Given the description of an element on the screen output the (x, y) to click on. 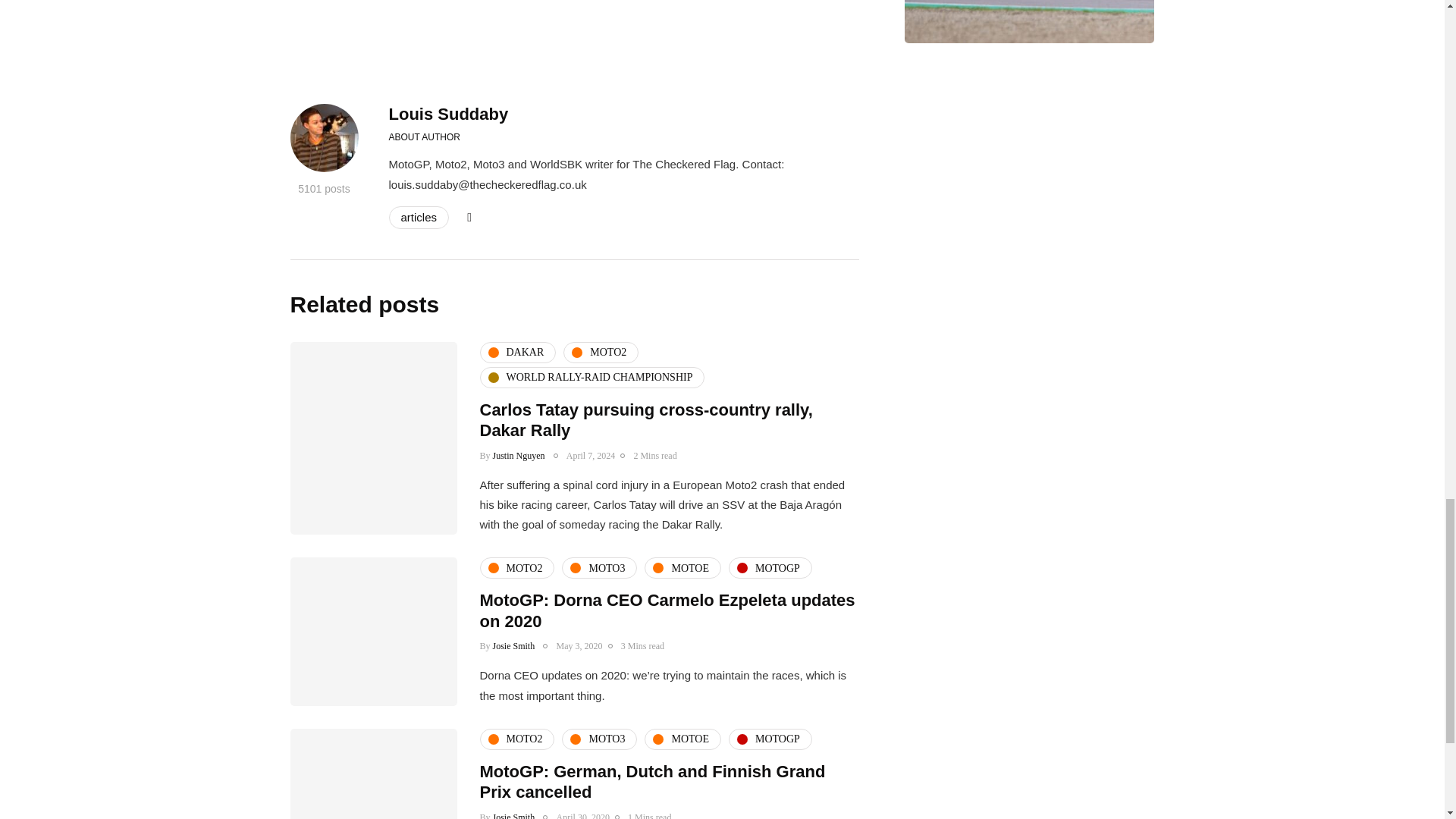
Posts by Justin Nguyen (518, 455)
Posts by Louis Suddaby (448, 113)
Posts by Josie Smith (514, 645)
